Given the description of an element on the screen output the (x, y) to click on. 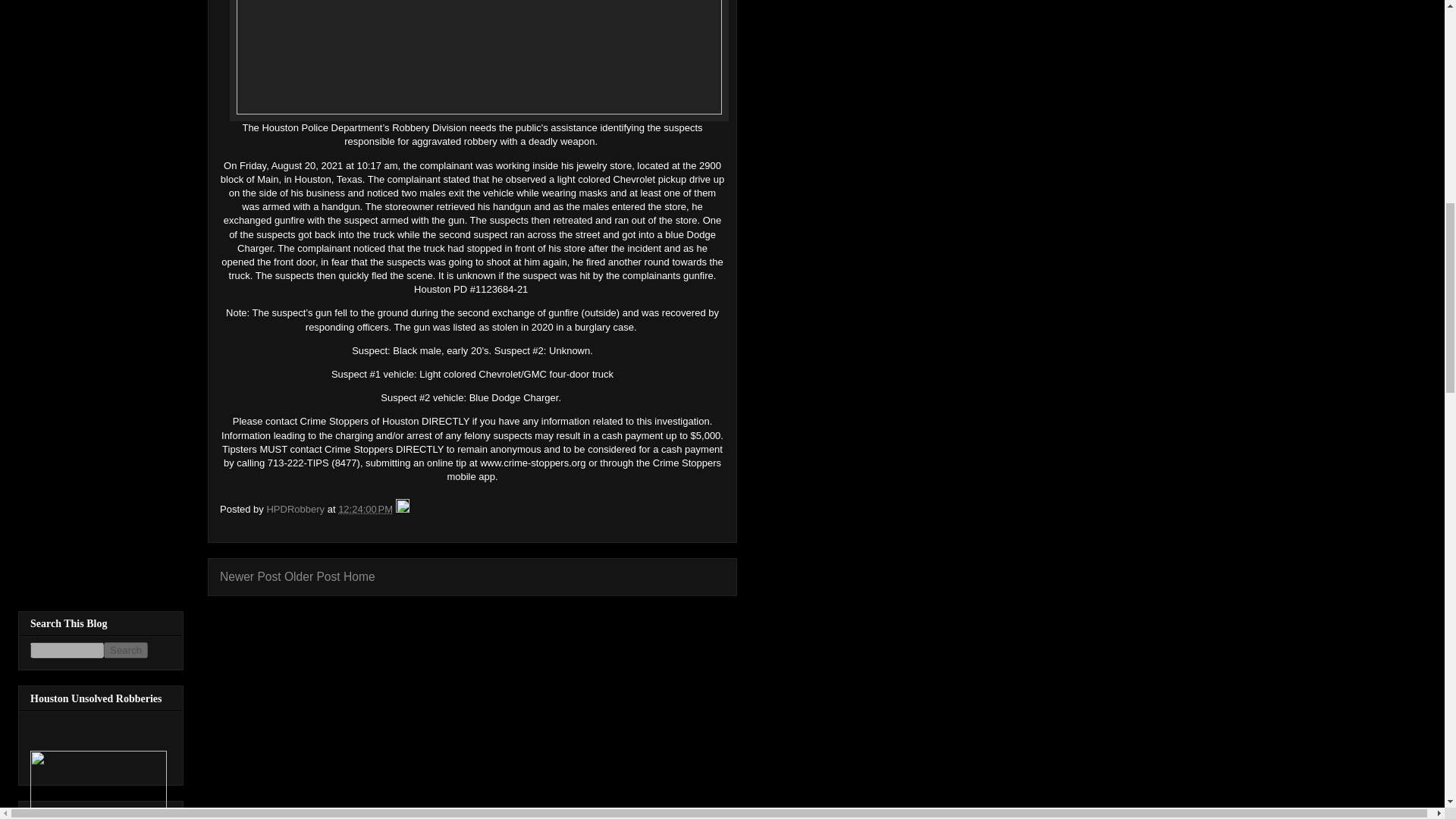
Older Post (311, 576)
Newer Post (250, 576)
Edit Post (402, 509)
Search (125, 650)
search (125, 650)
Home (359, 576)
Older Post (311, 576)
author profile (296, 509)
permanent link (365, 509)
Search (125, 650)
HPDRobbery (296, 509)
Newer Post (250, 576)
search (66, 650)
Search (125, 650)
